Given the description of an element on the screen output the (x, y) to click on. 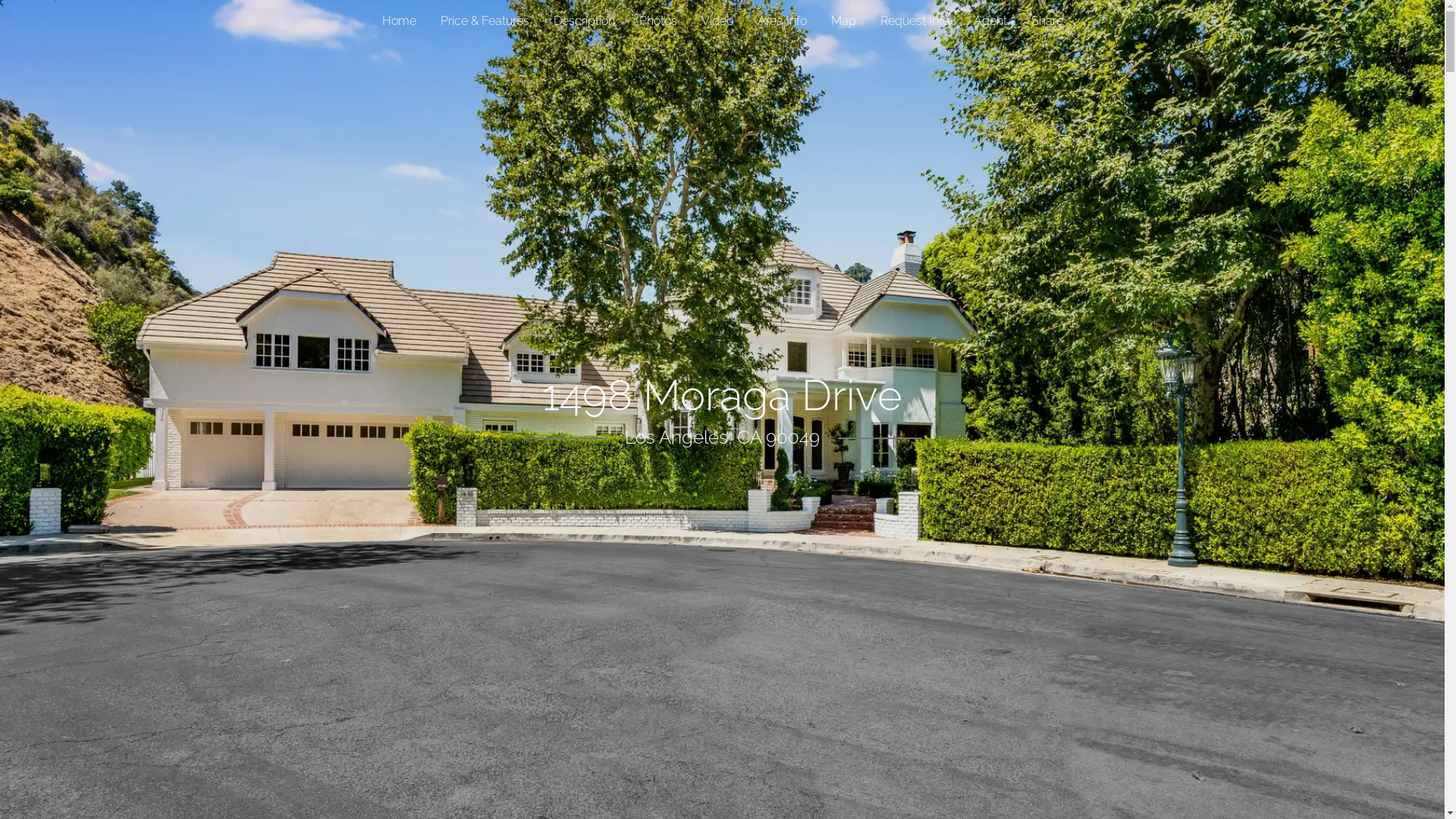
Map Element type: text (843, 21)
Home Element type: text (399, 21)
Photos Element type: text (657, 21)
Request Info Element type: text (913, 21)
Agent Element type: text (990, 21)
Price & Features Element type: text (483, 21)
Video Element type: text (716, 21)
Area Info Element type: text (781, 21)
Share Element type: text (1047, 21)
Description Element type: text (584, 21)
